Given the description of an element on the screen output the (x, y) to click on. 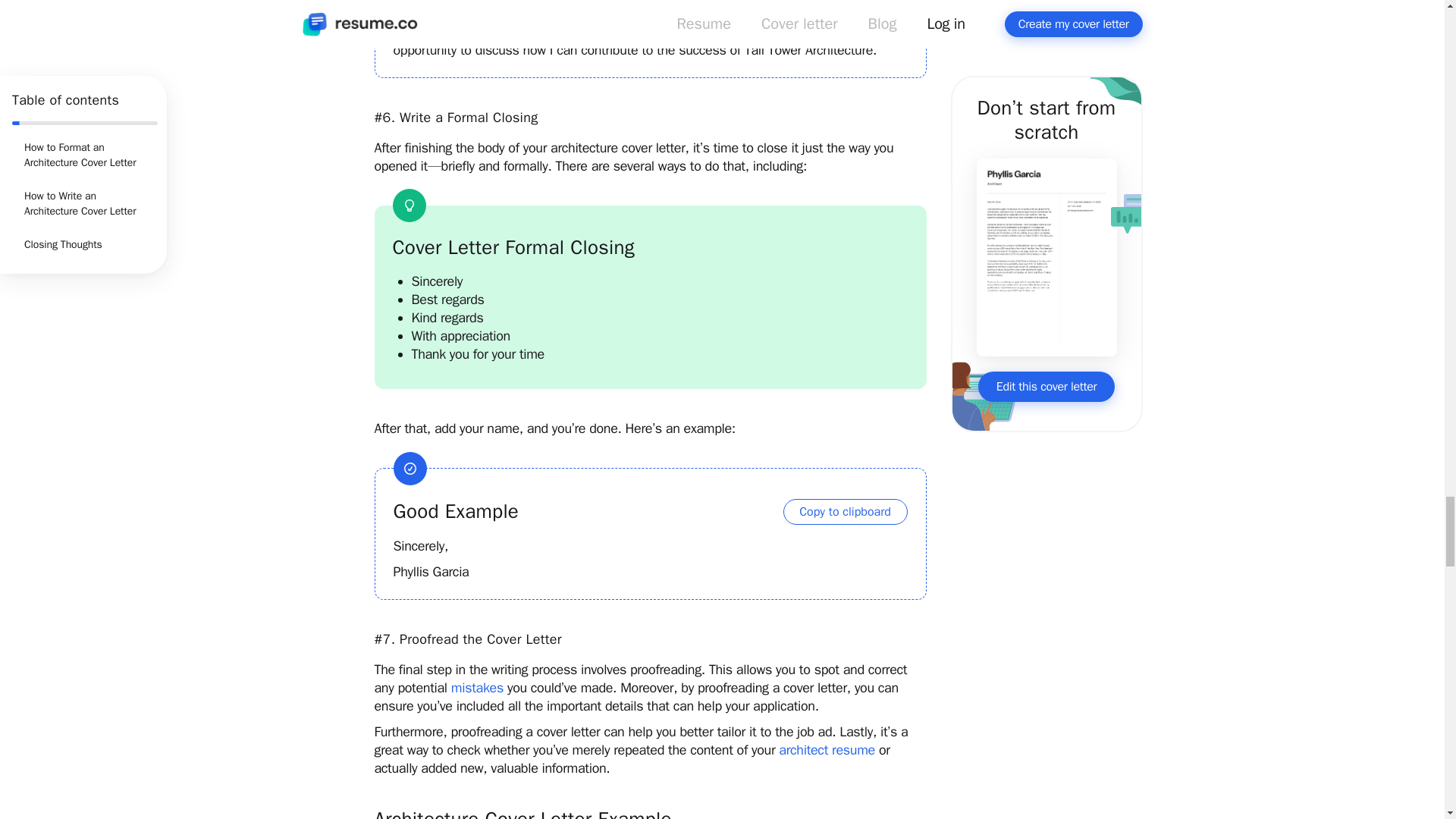
mistakes (477, 687)
Architecture Cover Letter Example (650, 813)
architect resume (826, 750)
Copy to clipboard (845, 511)
